Given the description of an element on the screen output the (x, y) to click on. 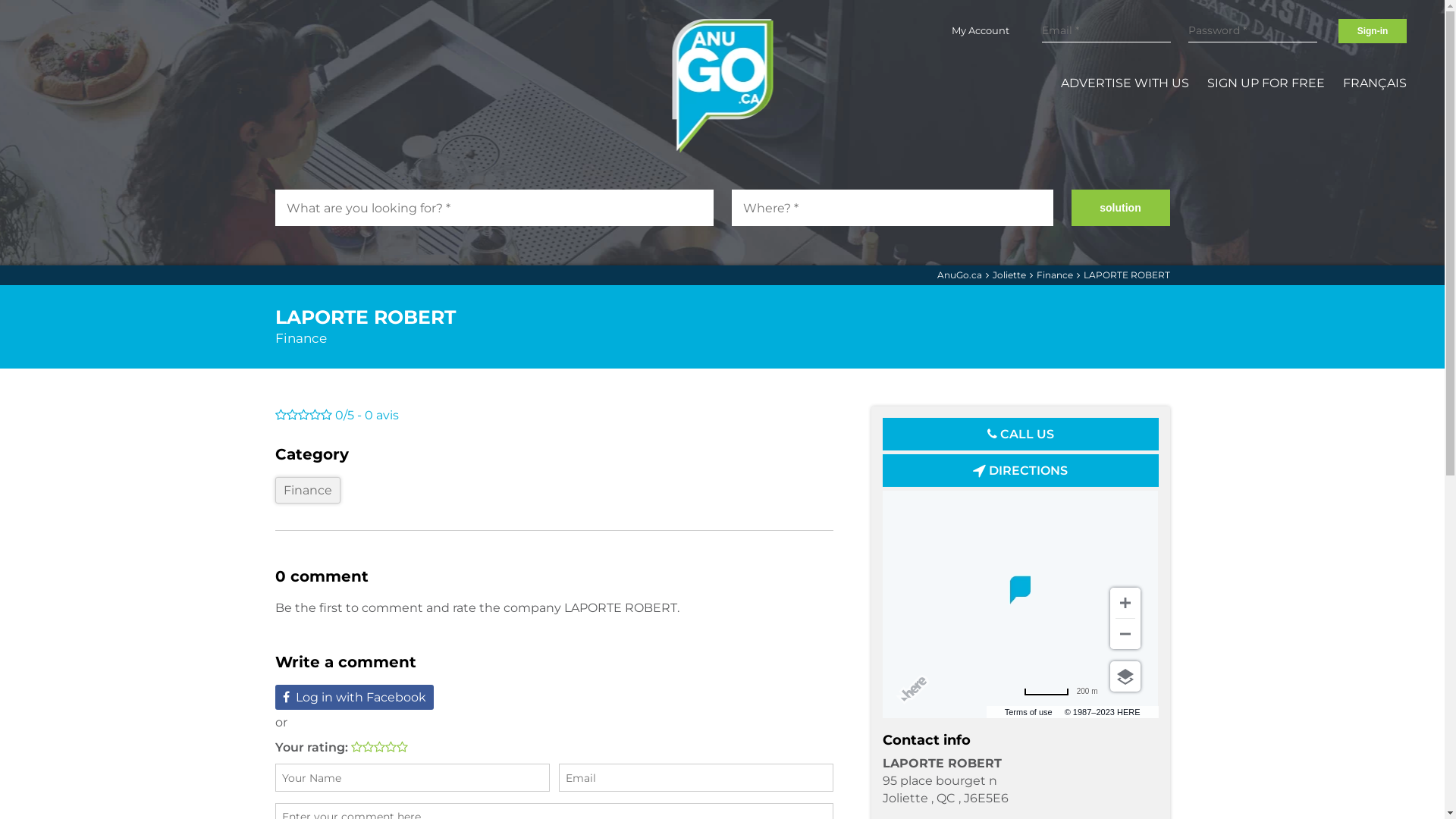
Terms of use Element type: text (1028, 711)
Choose view Element type: hover (1125, 676)
DIRECTIONS Element type: text (1019, 470)
My Account Element type: text (980, 30)
Sign-in Element type: text (1372, 30)
Log in with Facebook Element type: text (353, 696)
CALL US Element type: text (1019, 433)
ADVERTISE WITH US Element type: text (1124, 82)
Zoom in Element type: hover (1125, 602)
AnuGo.ca Element type: text (959, 275)
0/5 - 0 avis Element type: text (553, 414)
LAPORTE ROBERT Element type: text (1125, 275)
Zoom out Element type: hover (1125, 633)
Finance Element type: text (1053, 275)
Finance Element type: text (306, 489)
solution Element type: text (1119, 207)
AnuGo.ca Element type: hover (721, 85)
SIGN UP FOR FREE Element type: text (1265, 82)
Finance Element type: text (300, 337)
Joliette Element type: text (1008, 275)
